Given the description of an element on the screen output the (x, y) to click on. 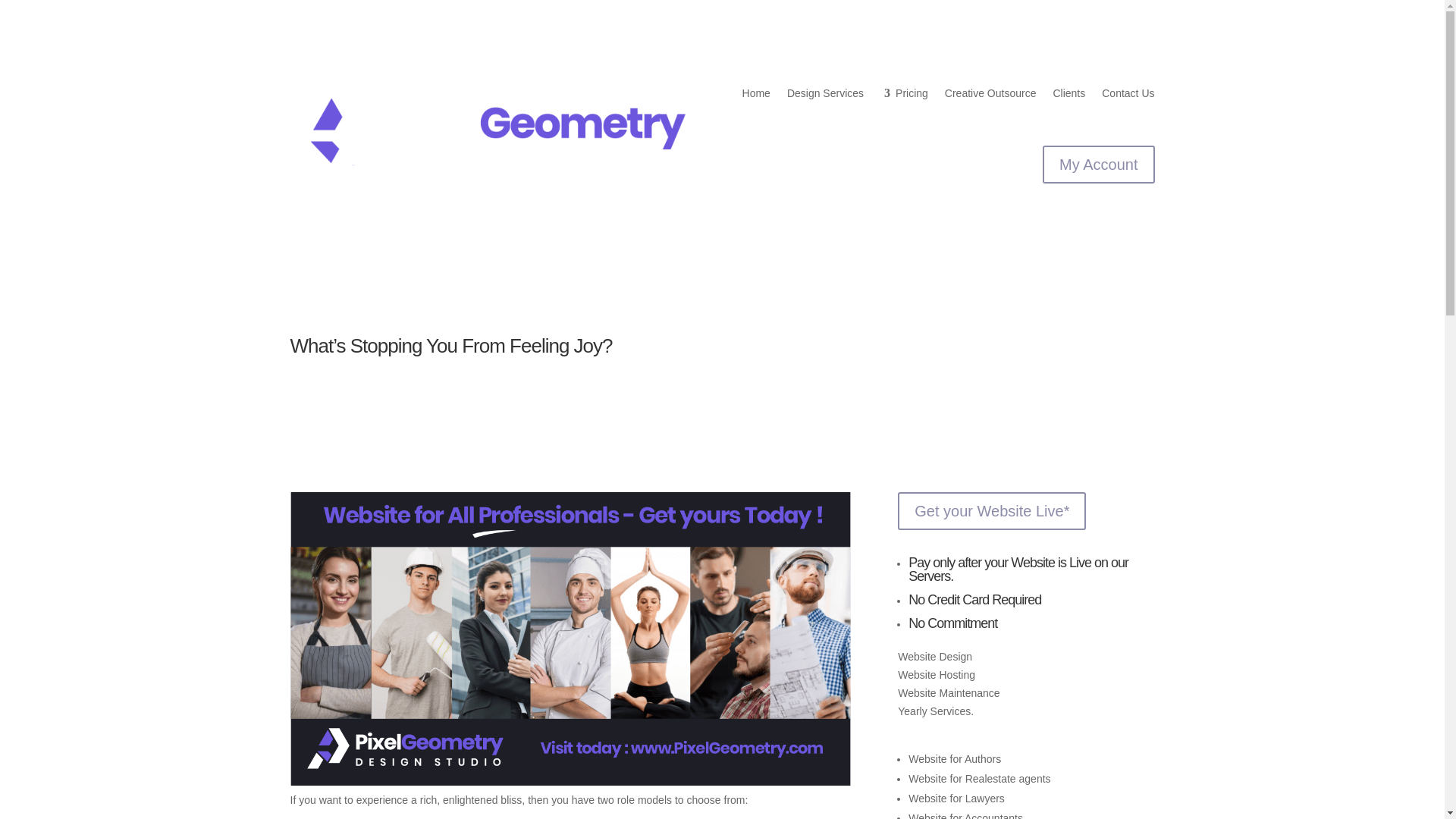
Design Services (833, 93)
Contact Us (1128, 93)
My Account (1098, 164)
Creative Outsource (990, 93)
